Given the description of an element on the screen output the (x, y) to click on. 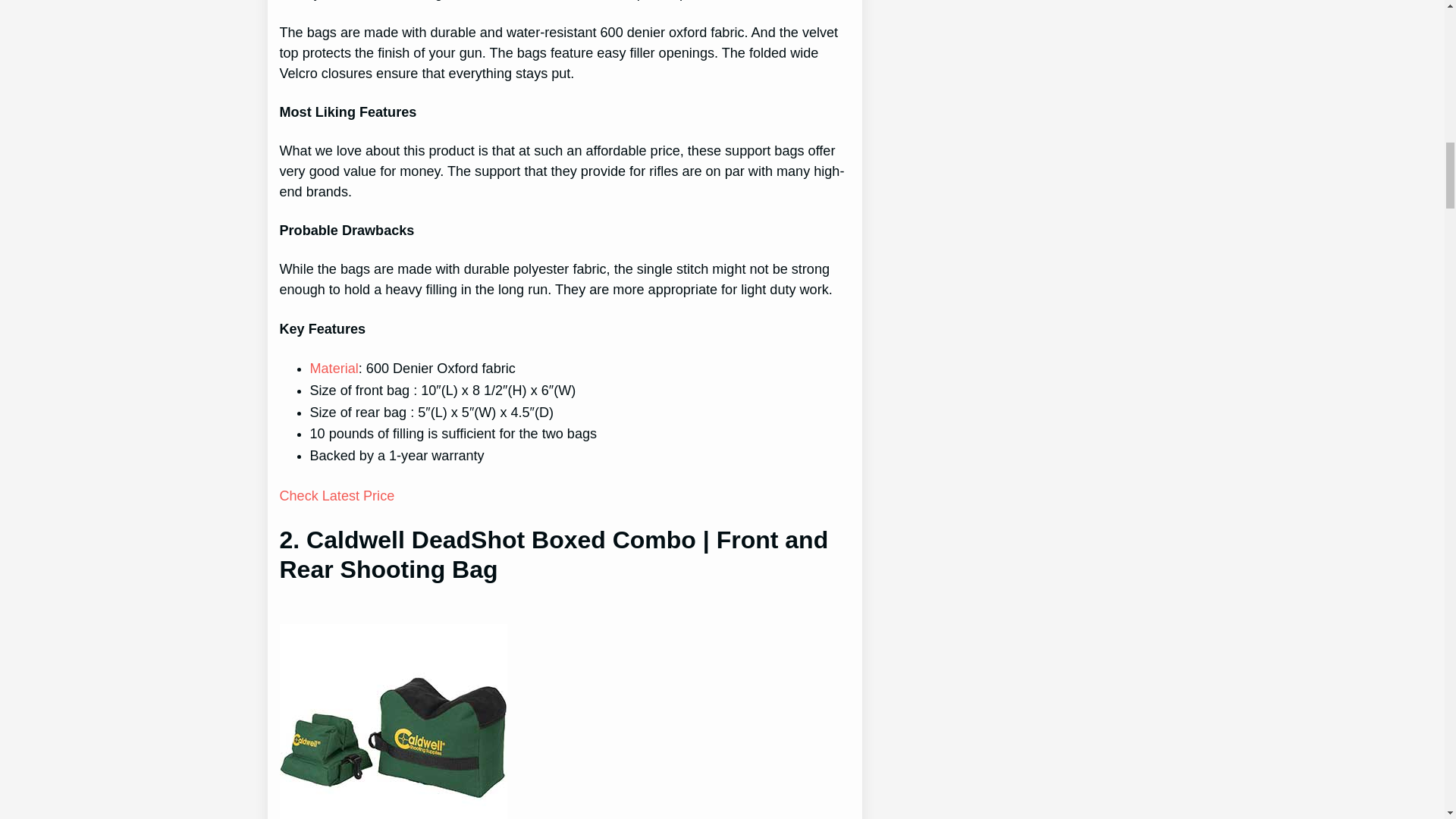
Check Latest Price (336, 495)
Material (333, 368)
